Given the description of an element on the screen output the (x, y) to click on. 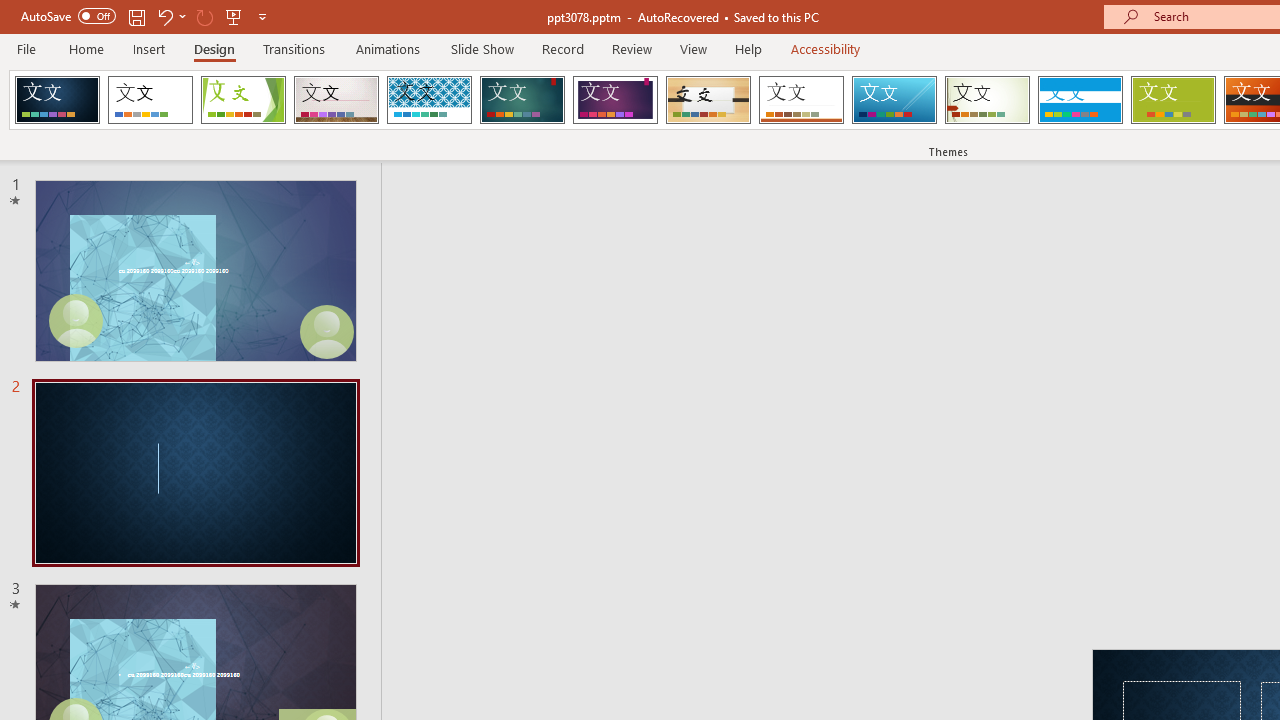
Wisp (987, 100)
Ion (522, 100)
Dividend (57, 100)
Basis (1172, 100)
Integral (429, 100)
Banded (1080, 100)
Office Theme (150, 100)
